Given the description of an element on the screen output the (x, y) to click on. 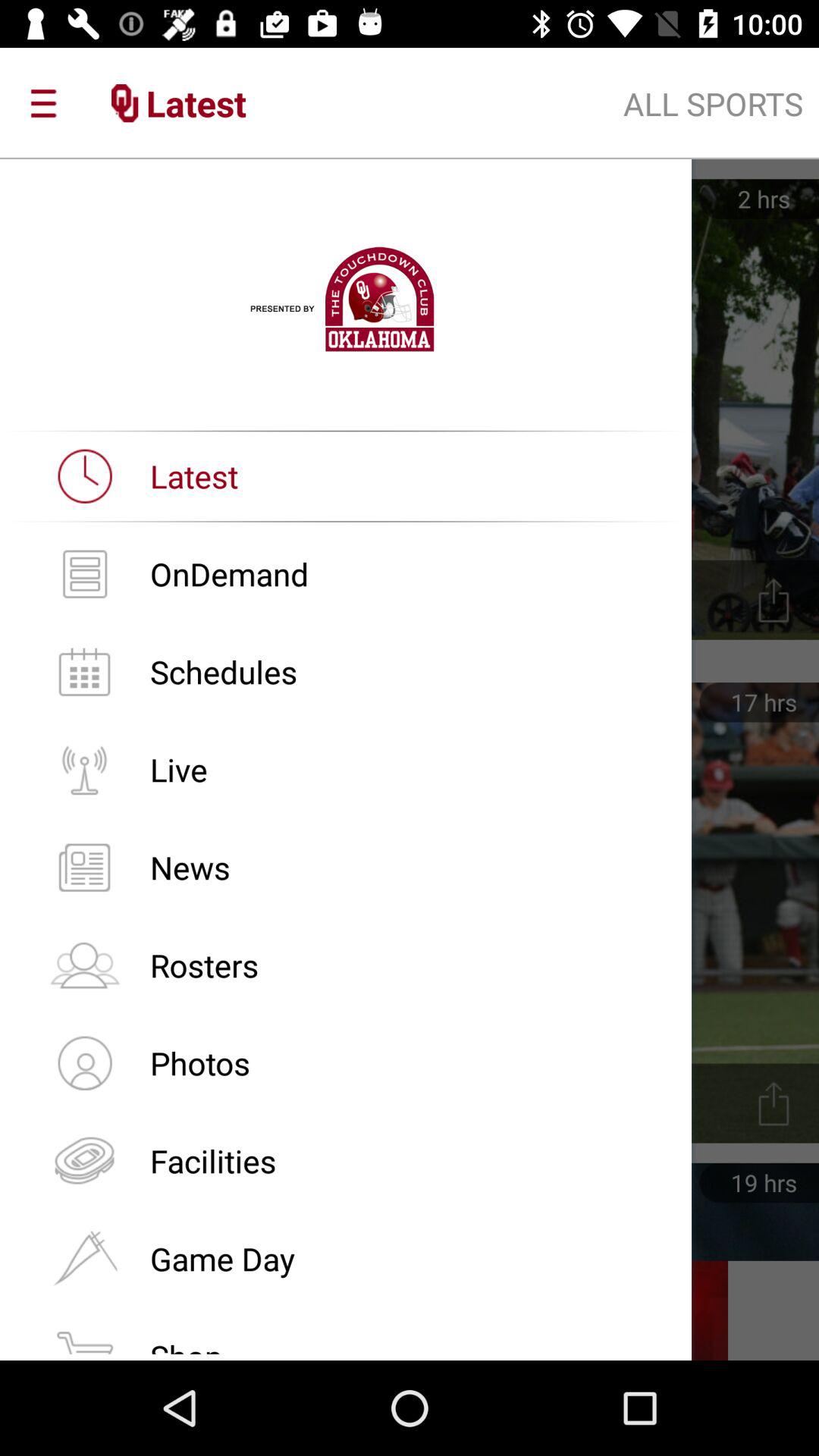
select the first icon below the latest (84, 573)
click on the icon which is left to latest (84, 476)
